Given the description of an element on the screen output the (x, y) to click on. 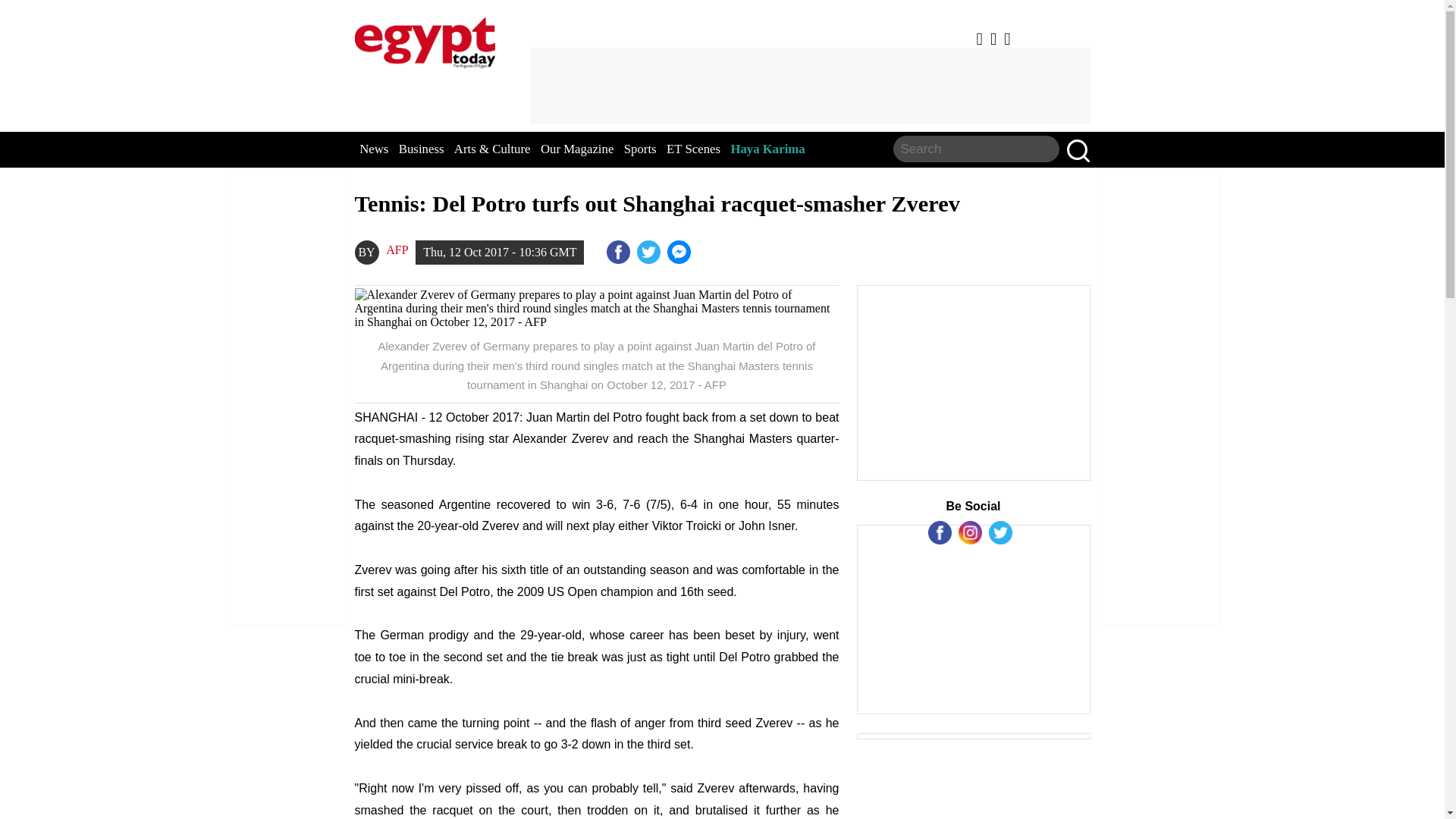
AFP (396, 250)
Sisi heads to Guinea first destination in overseas tour (680, 251)
ET Scenes (693, 149)
EgyptToday (425, 39)
Business (421, 149)
Haya Karima (767, 149)
Our Magazine (576, 149)
Sports (640, 149)
